Given the description of an element on the screen output the (x, y) to click on. 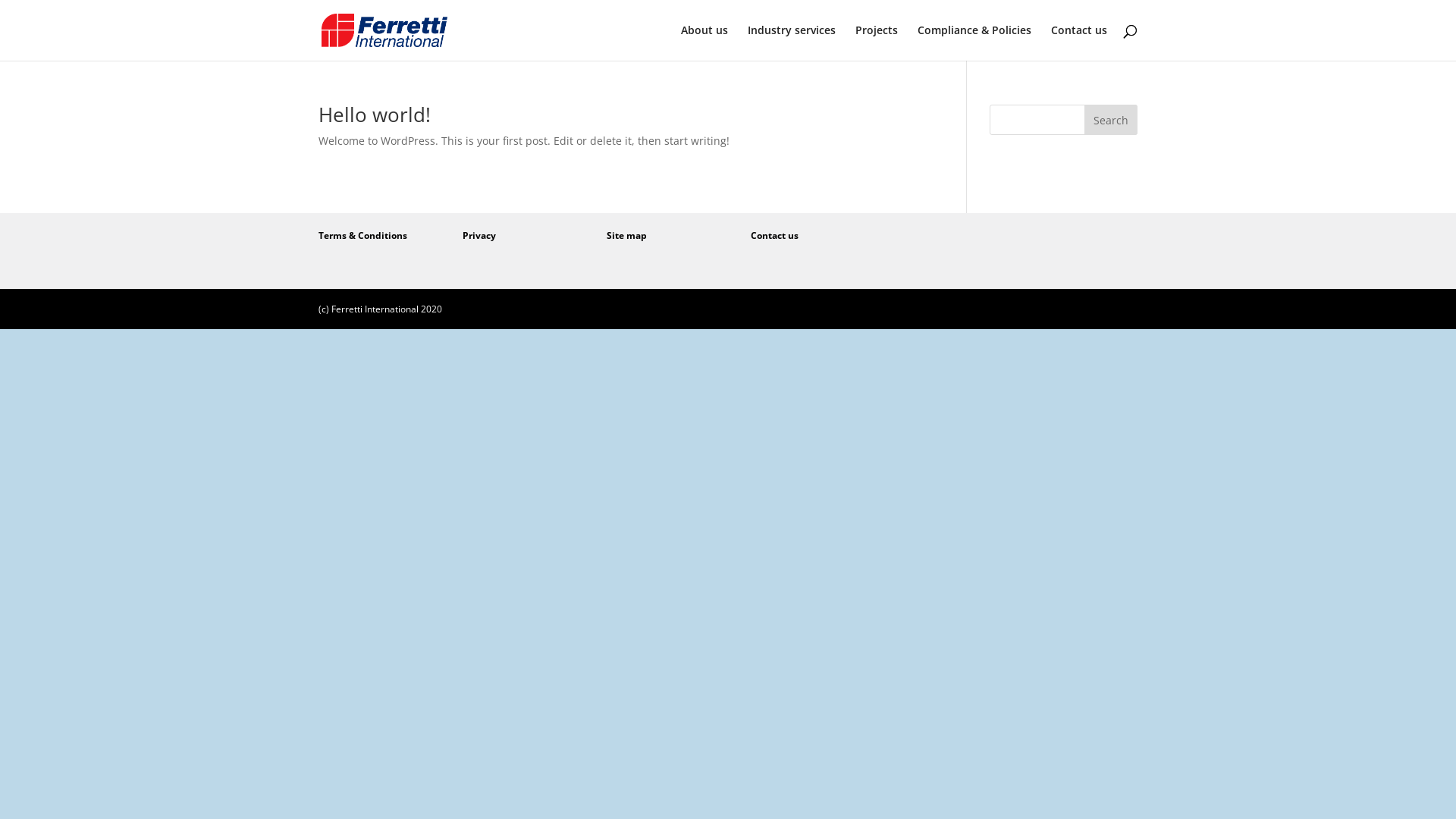
Compliance & Policies Element type: text (974, 42)
About us Element type: text (704, 42)
Site map Element type: text (626, 235)
Contact us Element type: text (774, 235)
Privacy Element type: text (478, 235)
Projects Element type: text (876, 42)
Terms & Conditions Element type: text (362, 235)
Hello world! Element type: text (374, 114)
Industry services Element type: text (791, 42)
Search Element type: text (1110, 119)
Contact us Element type: text (1079, 42)
